Given the description of an element on the screen output the (x, y) to click on. 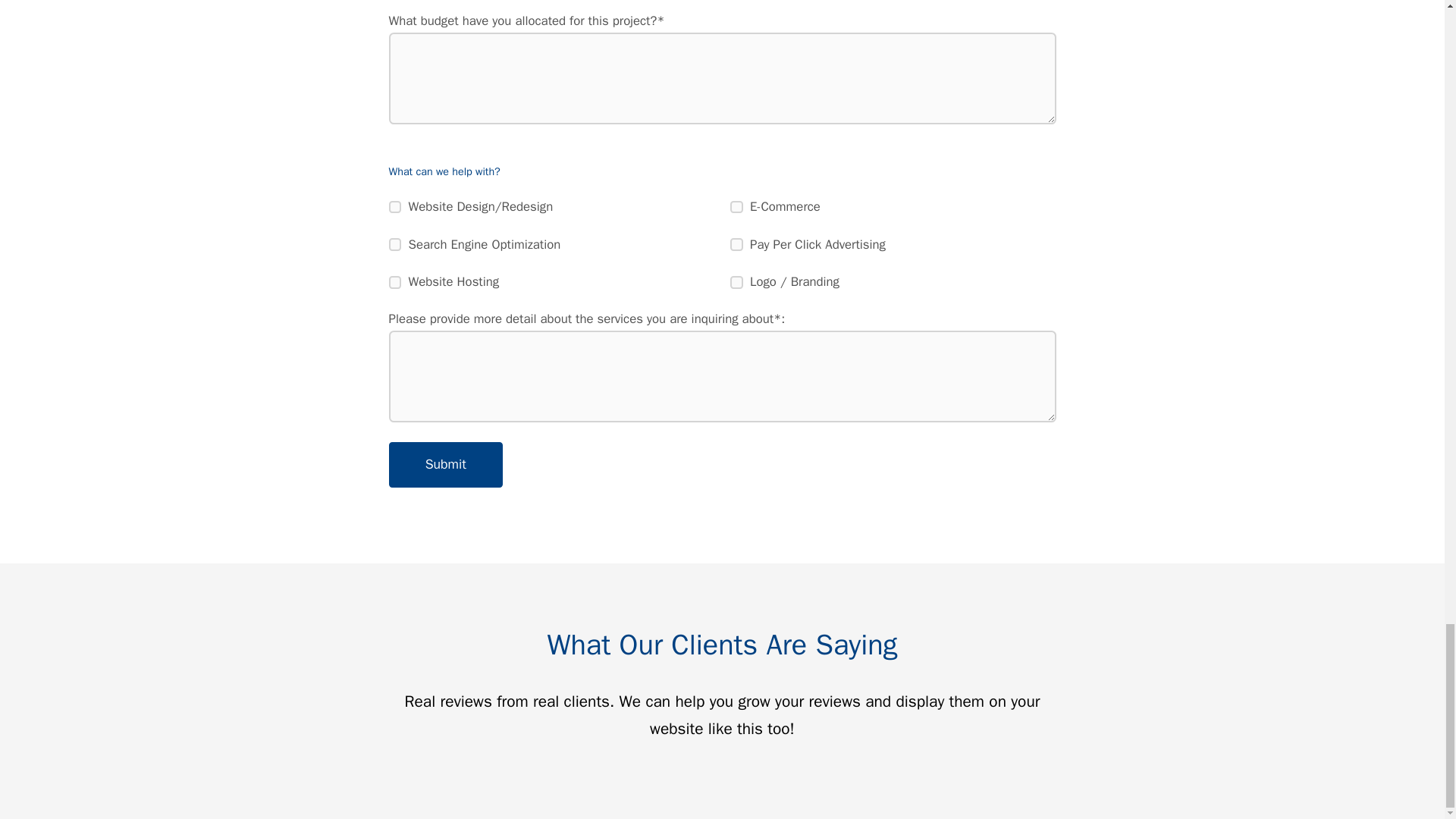
Pay Per Click Advertising (736, 244)
Submit (445, 464)
Search Engine Optimization (394, 244)
Submit (445, 464)
Website Hosting (394, 282)
E-Commerce (736, 206)
